Given the description of an element on the screen output the (x, y) to click on. 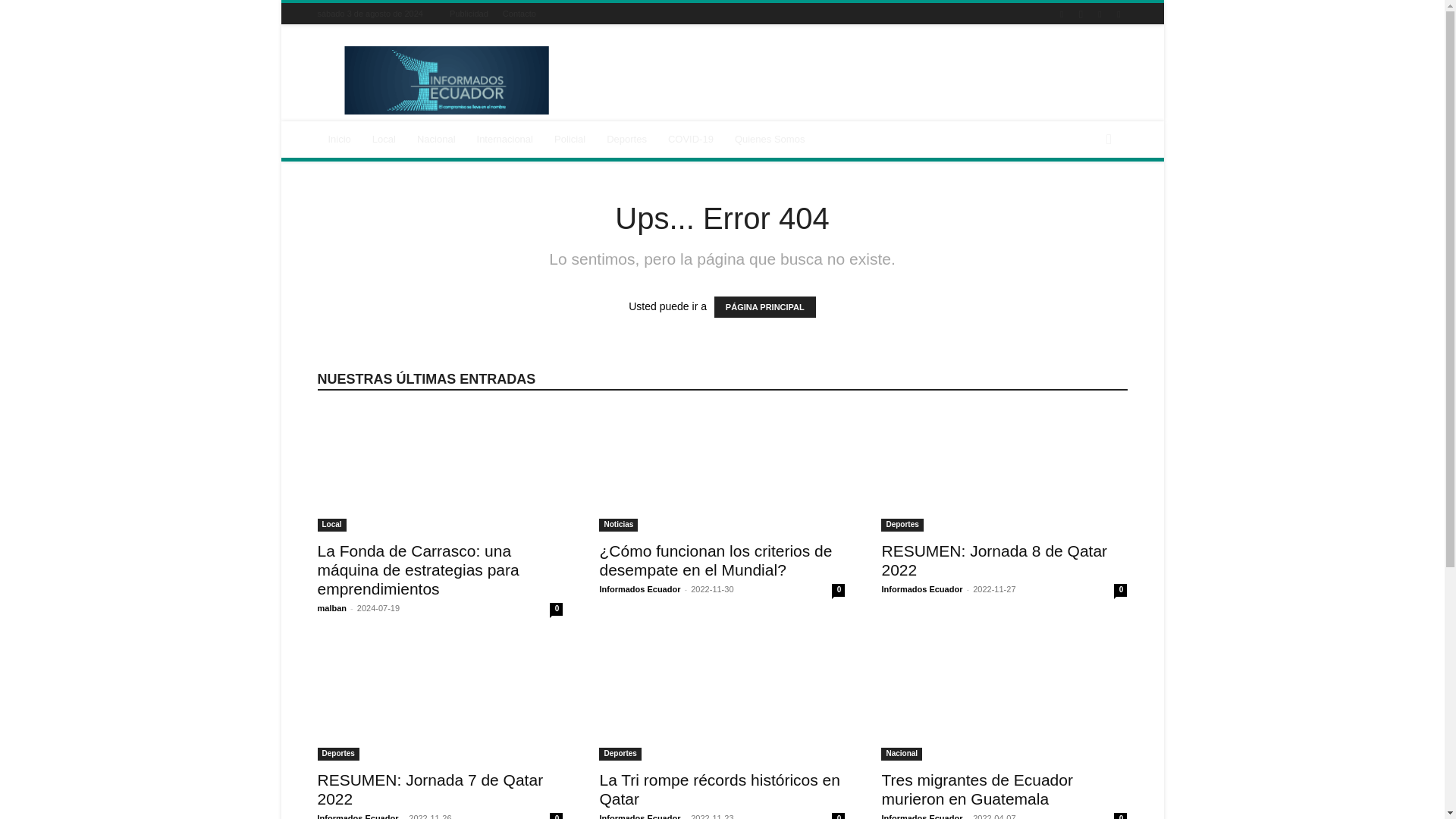
Inicio (339, 139)
There is no place like home (339, 139)
Publicidad (468, 13)
Contacto (518, 13)
Local (383, 139)
